Given the description of an element on the screen output the (x, y) to click on. 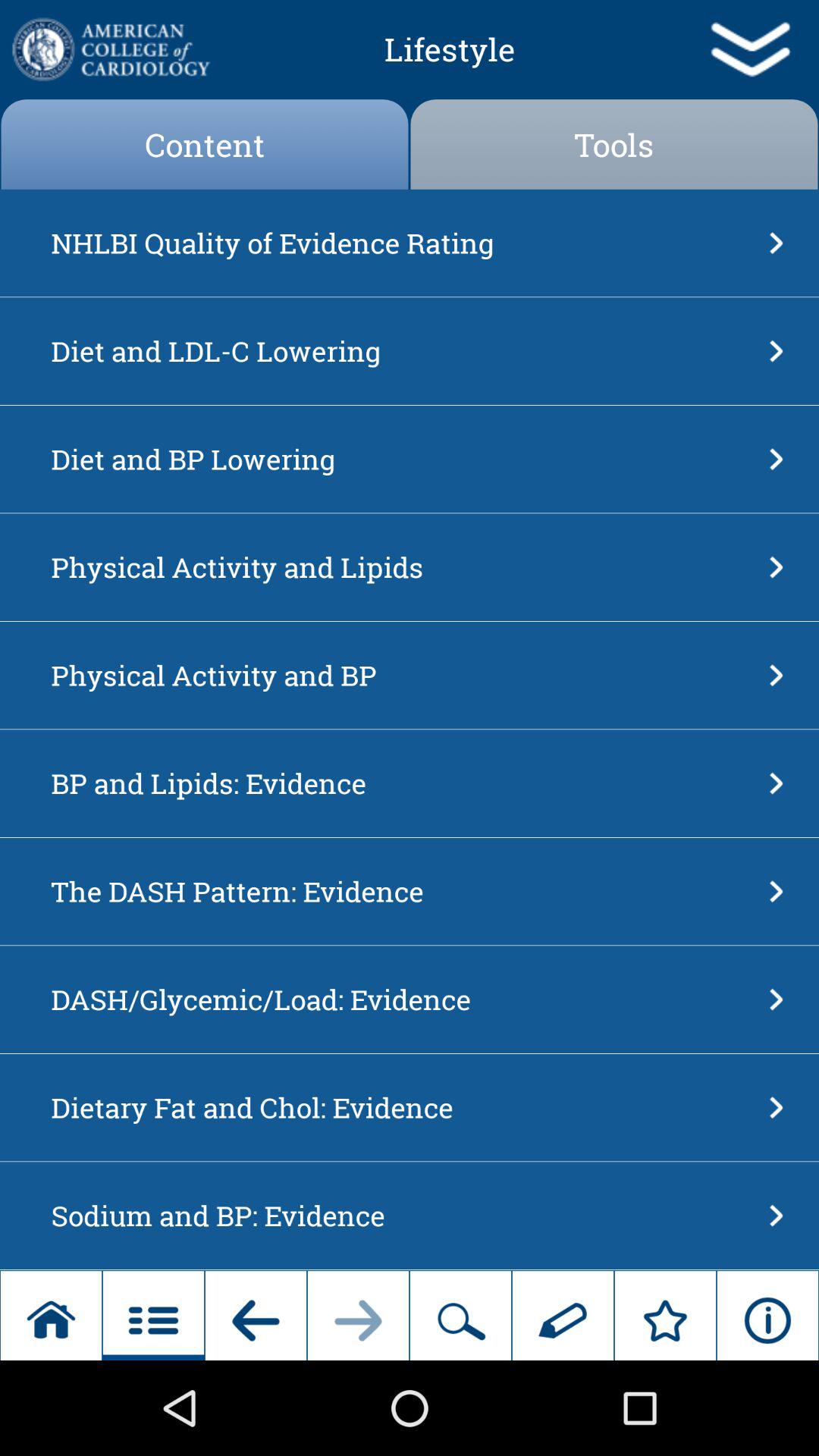
launch the item to the left of lifestyle icon (109, 49)
